Given the description of an element on the screen output the (x, y) to click on. 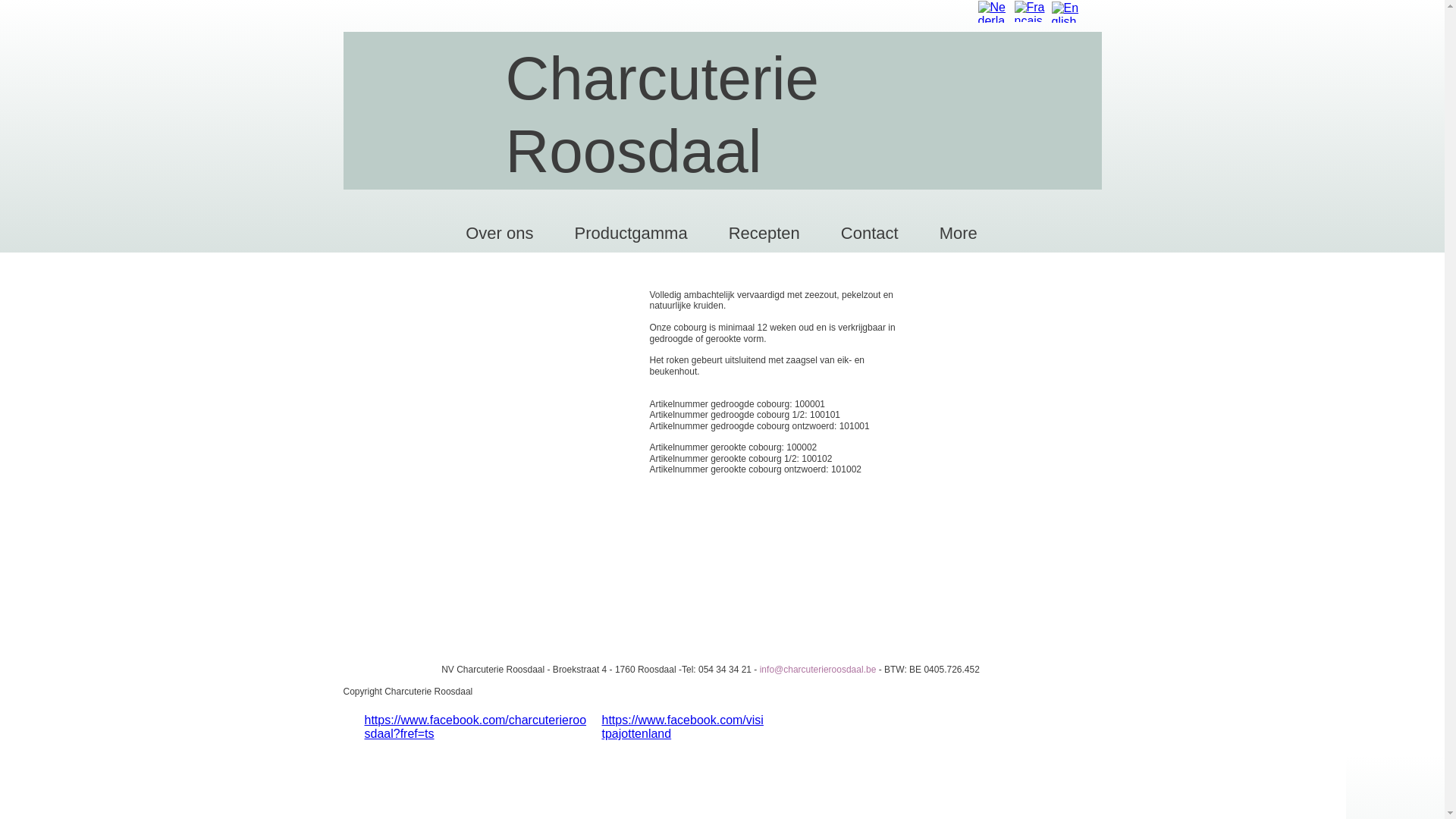
Francais Element type: hover (1030, 10)
Recepten Element type: text (764, 234)
info@charcuterieroosdaal.be Element type: text (817, 669)
More Element type: text (958, 234)
Productgamma Element type: text (630, 234)
Contact Element type: text (869, 234)
English Element type: hover (1066, 11)
Nederlands Element type: hover (994, 11)
https://www.facebook.com/visitpajottenland Element type: text (682, 726)
Over ons Element type: text (498, 234)
https://www.facebook.com/charcuterieroosdaal?fref=ts Element type: text (475, 726)
